Given the description of an element on the screen output the (x, y) to click on. 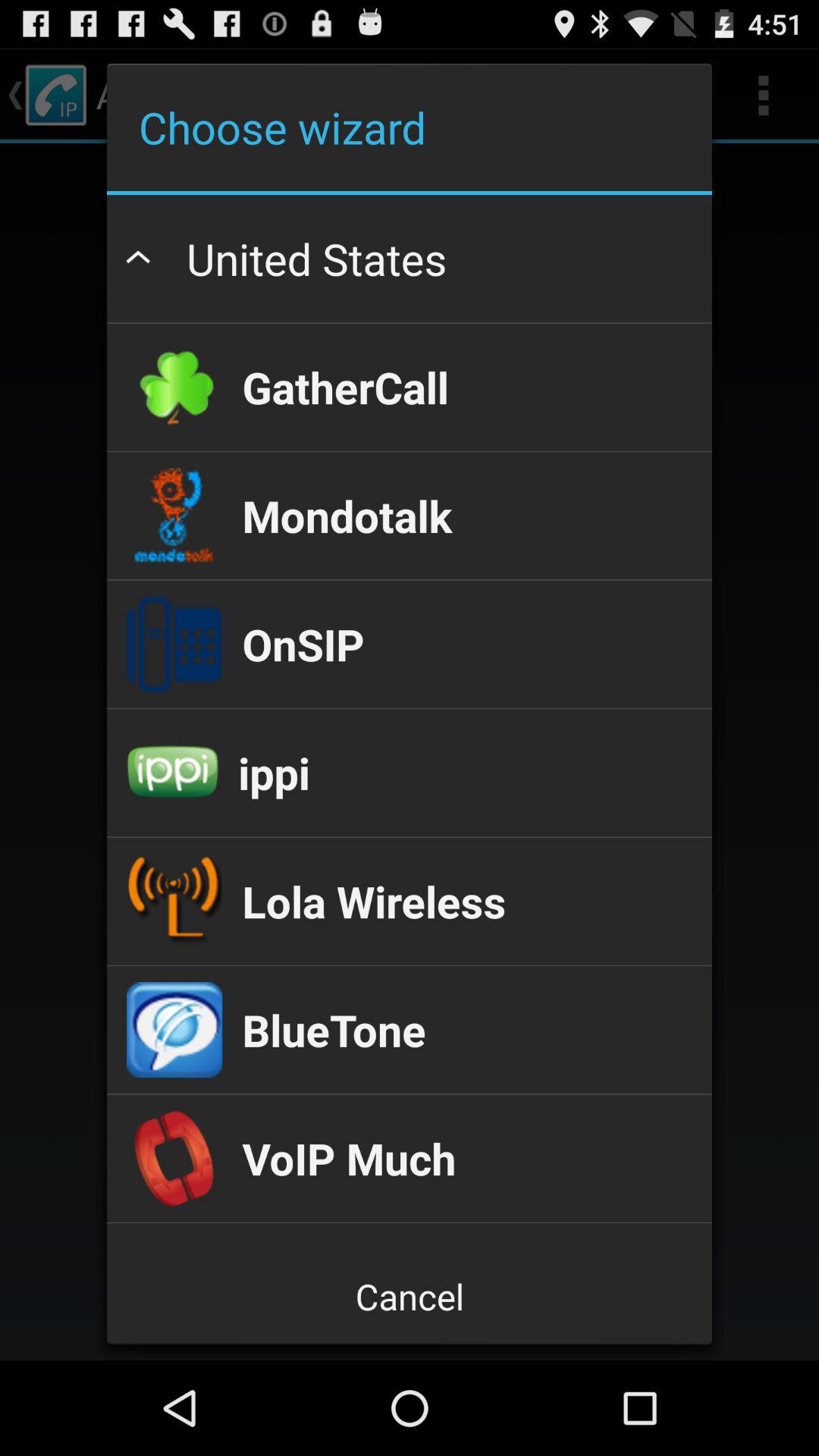
select cancel icon (409, 1296)
